Given the description of an element on the screen output the (x, y) to click on. 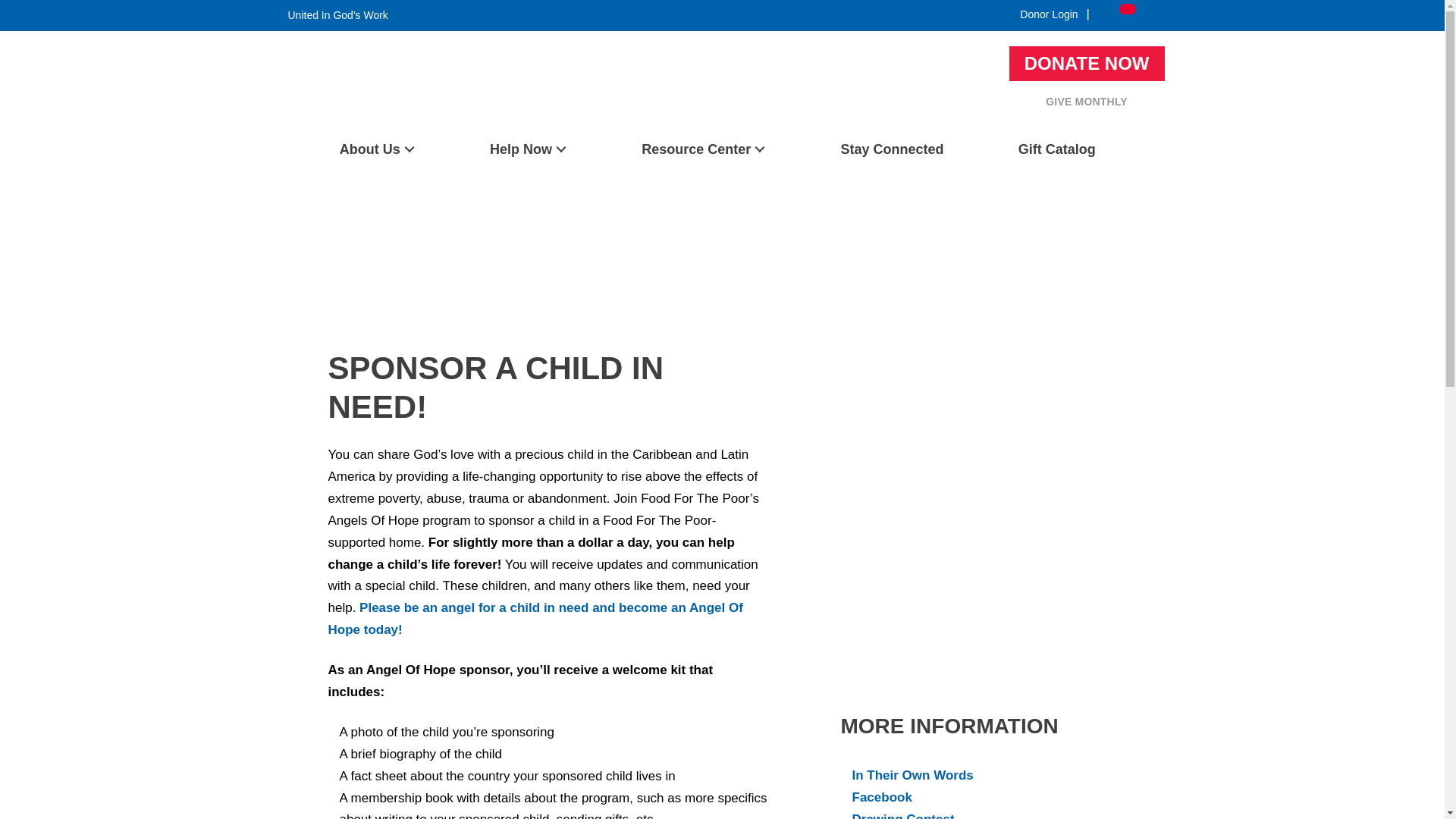
Food For The Poor (334, 122)
Donor Login (1048, 14)
YouTube video player (978, 342)
DONATE NOW (1086, 63)
GIVE MONTHLY (1085, 101)
About Us (376, 149)
YouTube video player (978, 587)
